Given the description of an element on the screen output the (x, y) to click on. 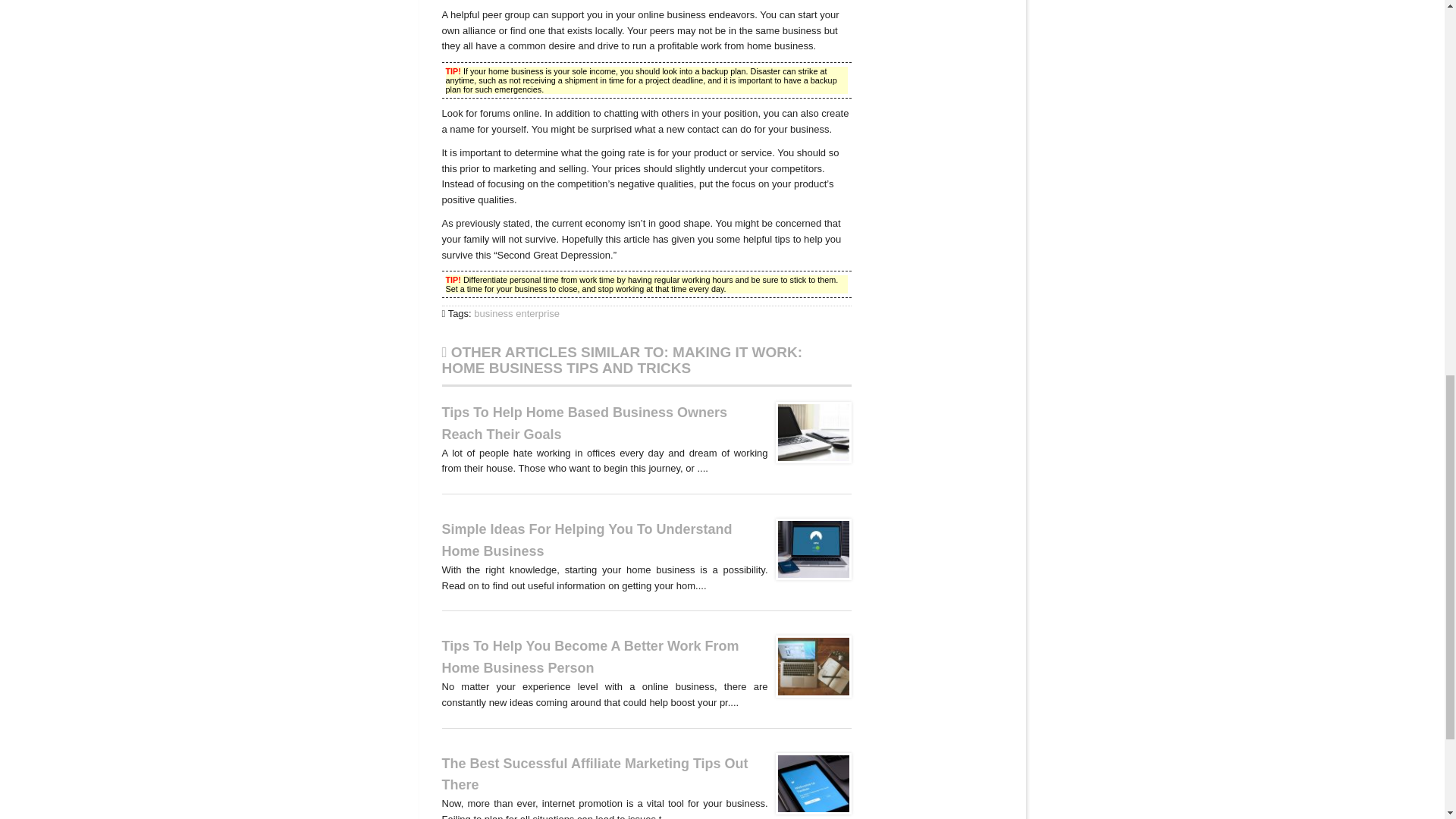
Simple Ideas For Helping You To Understand Home Business (812, 548)
The Best Sucessful Affiliate Marketing Tips Out There (594, 774)
Tips To Help Home Based Business Owners Reach Their Goals (812, 432)
Simple Ideas For Helping You To Understand Home Business (586, 539)
The Best Sucessful Affiliate Marketing Tips Out There (812, 783)
The Best Sucessful Affiliate Marketing Tips Out There (594, 774)
Simple Ideas For Helping You To Understand Home Business (586, 539)
Tips To Help Home Based Business Owners Reach Their Goals (583, 423)
business enterprise (516, 313)
Tips To Help Home Based Business Owners Reach Their Goals (583, 423)
